Given the description of an element on the screen output the (x, y) to click on. 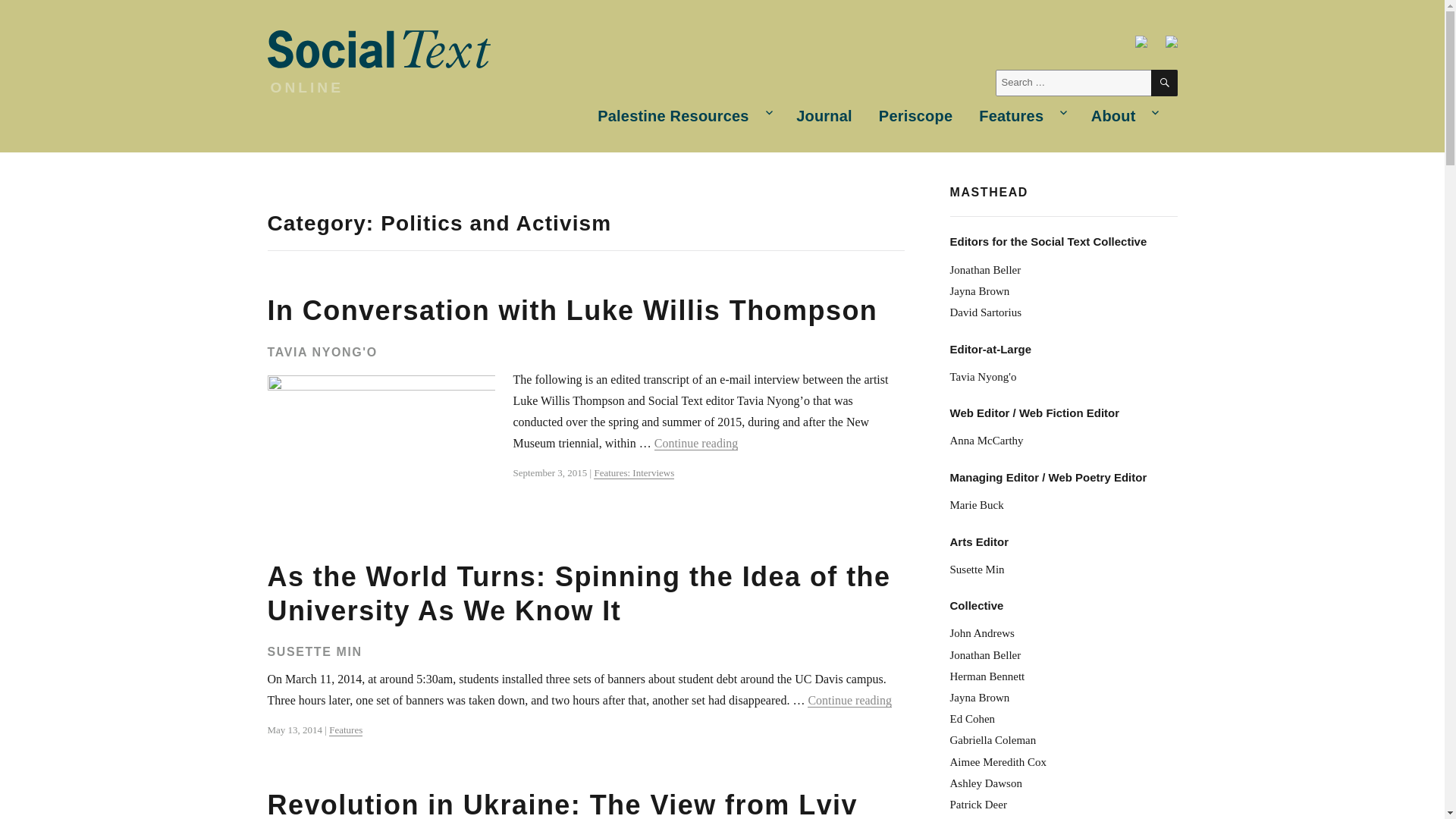
Palestine Resources (684, 116)
Features: Interviews (634, 472)
Journal (824, 116)
Revolution in Ukraine: The View from Lviv (561, 804)
About (1123, 116)
In Conversation with Luke Willis Thompson (571, 309)
Features (1021, 116)
Features (345, 729)
Periscope (914, 116)
